Given the description of an element on the screen output the (x, y) to click on. 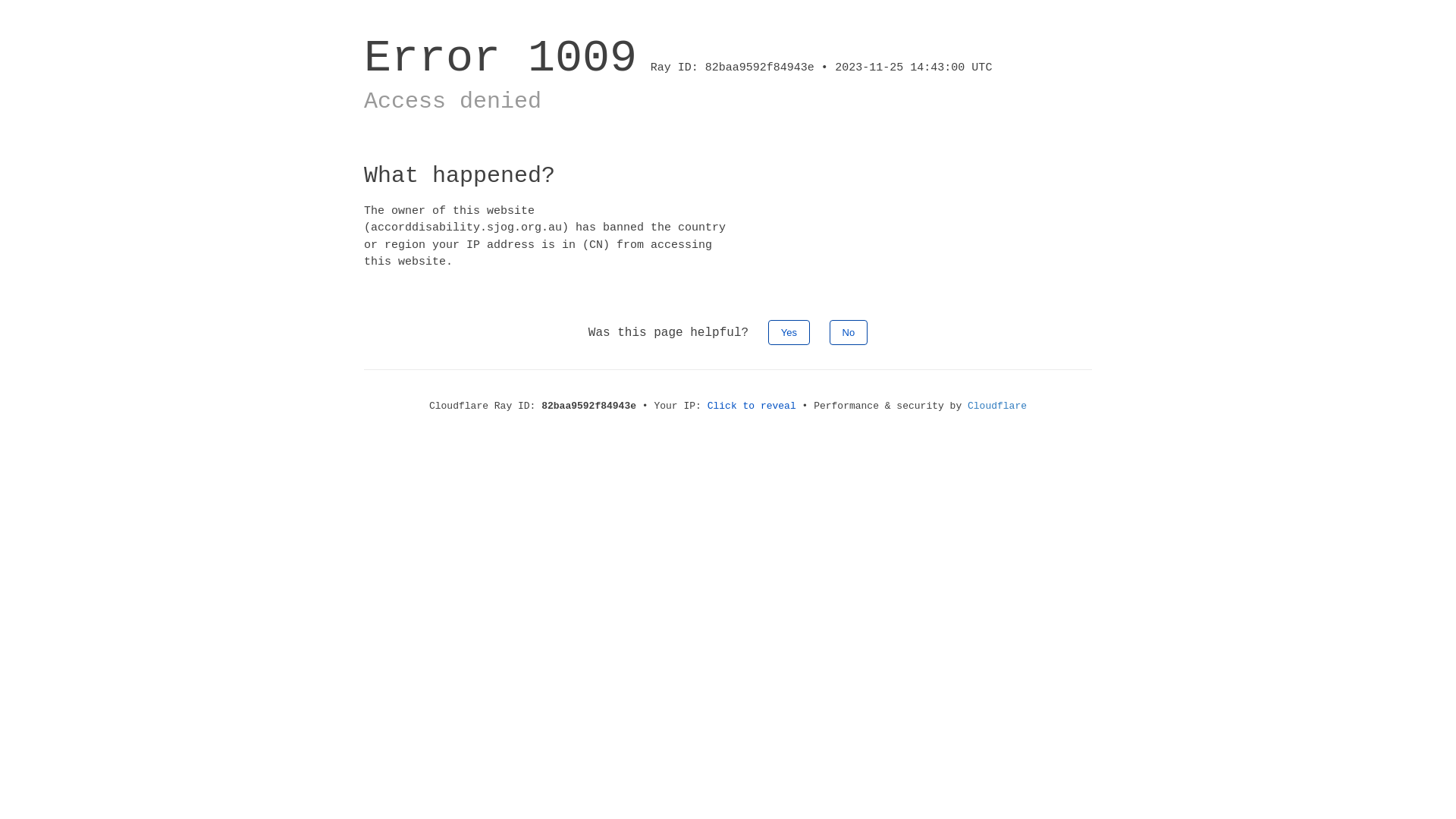
Yes Element type: text (788, 332)
No Element type: text (848, 332)
Cloudflare Element type: text (996, 405)
Click to reveal Element type: text (751, 405)
